Given the description of an element on the screen output the (x, y) to click on. 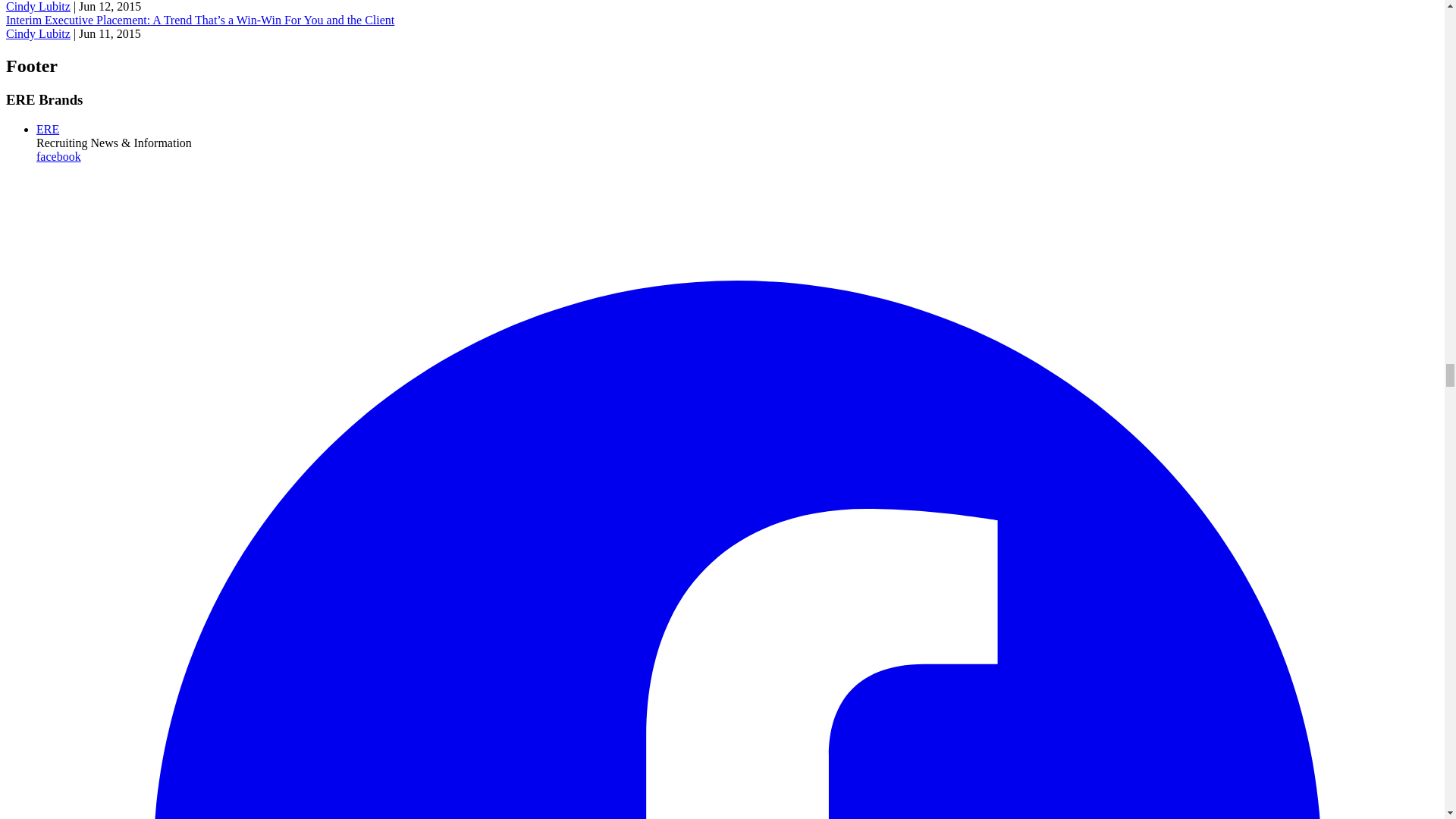
Cindy Lubitz (37, 6)
Cindy Lubitz (37, 33)
ERE (47, 128)
